Given the description of an element on the screen output the (x, y) to click on. 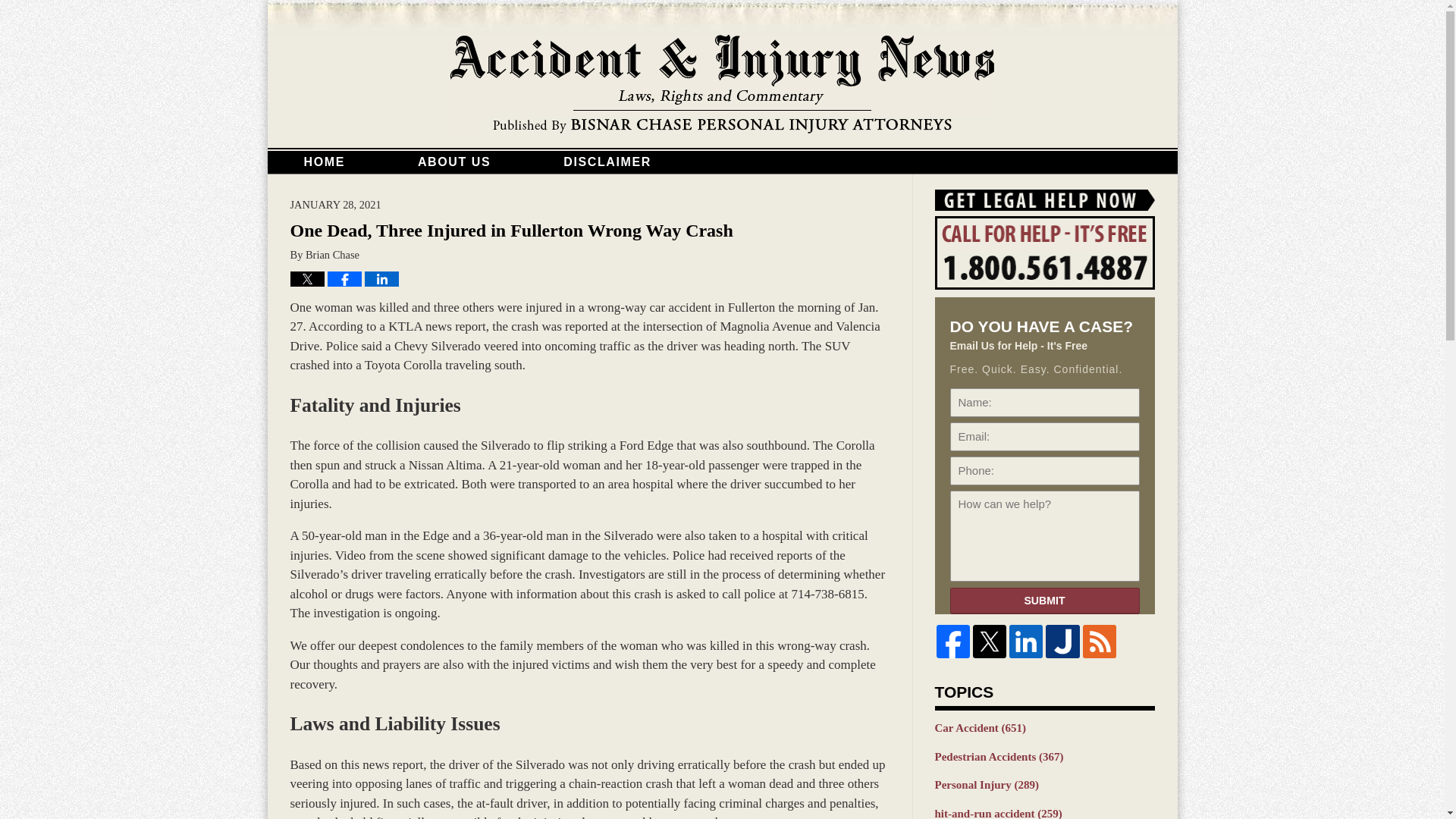
HOME (323, 161)
Please enter a valid phone number. (1043, 470)
Twitter (989, 641)
California Injury Blog (721, 84)
ABOUT US (454, 161)
DISCLAIMER (607, 161)
Feed (1099, 641)
LinkedIn (1025, 641)
Facebook (952, 641)
Justia (1061, 641)
SUBMIT (1043, 601)
